Given the description of an element on the screen output the (x, y) to click on. 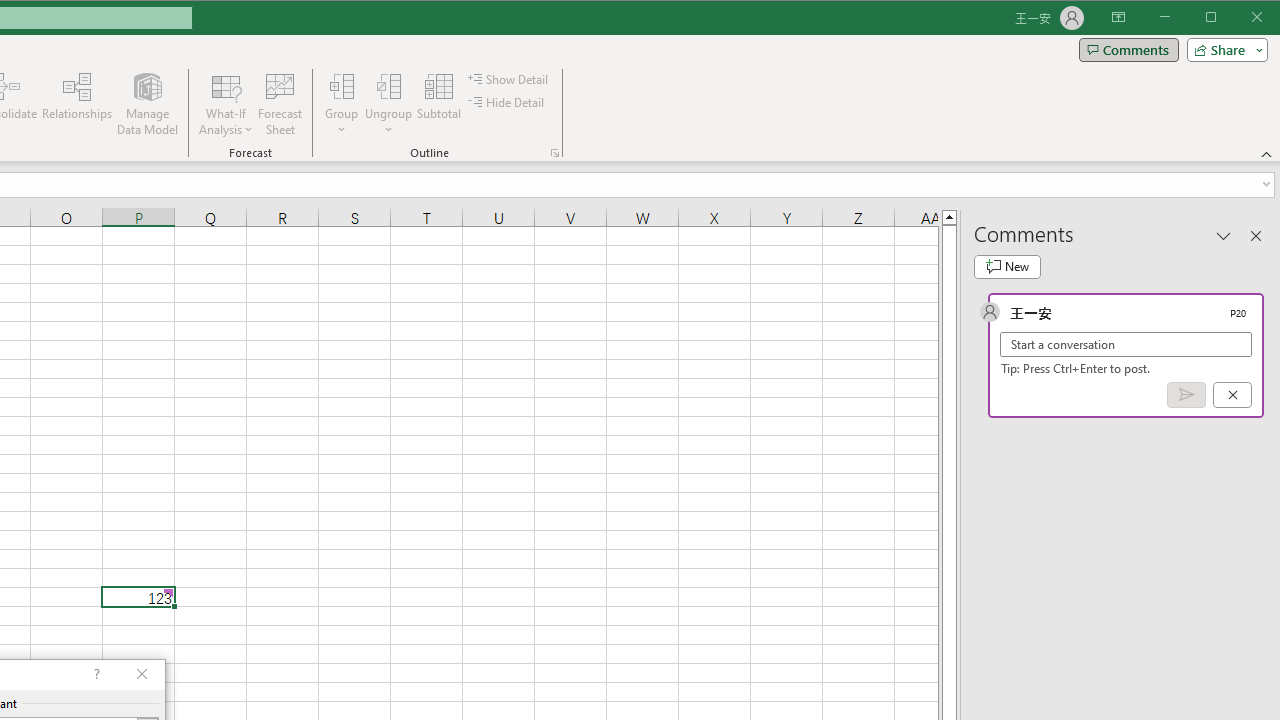
Post comment (Ctrl + Enter) (1186, 395)
New comment (1007, 266)
